Given the description of an element on the screen output the (x, y) to click on. 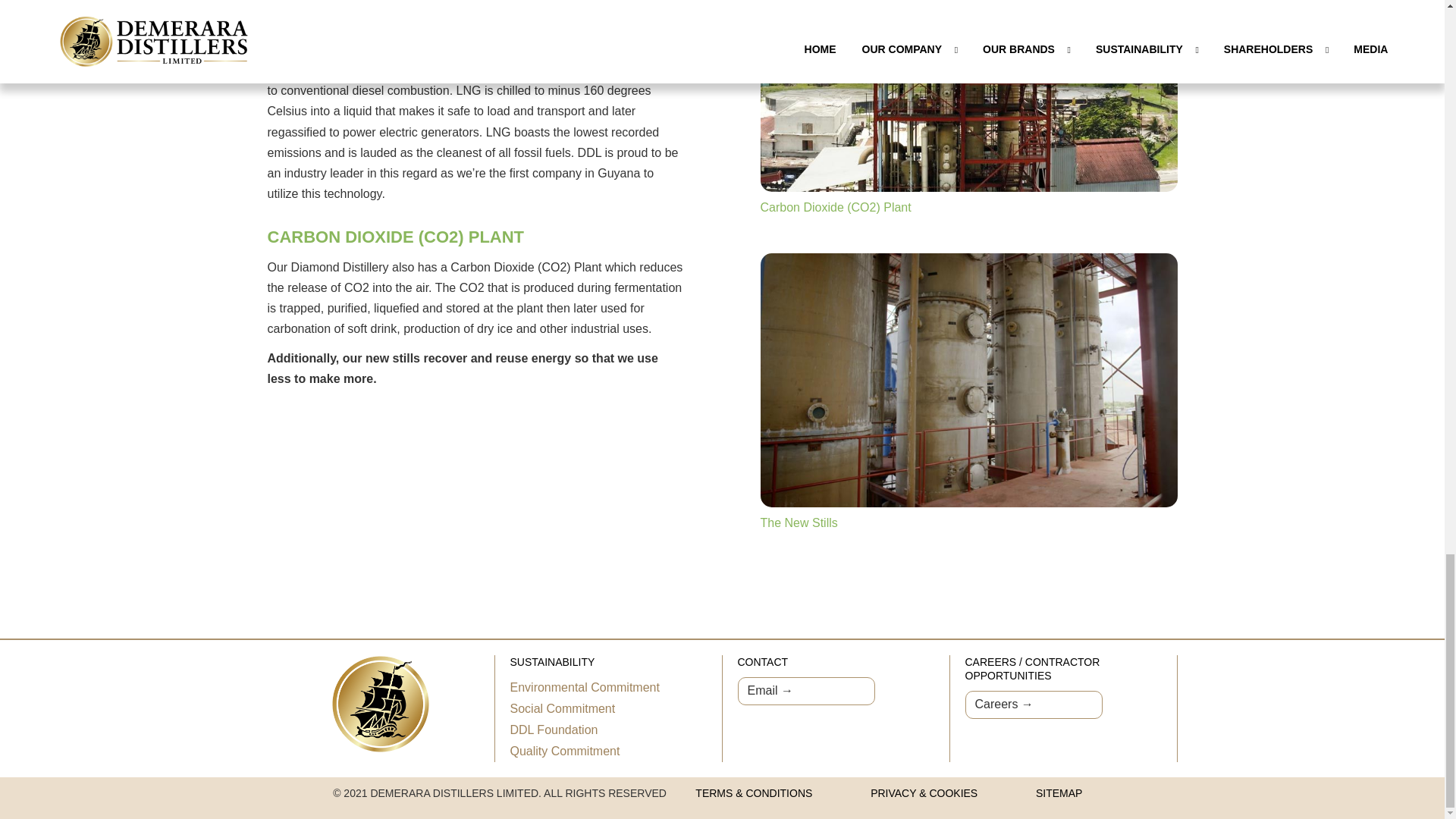
Search careers (1032, 705)
Sitemap (1059, 793)
Contact us (805, 691)
